Given the description of an element on the screen output the (x, y) to click on. 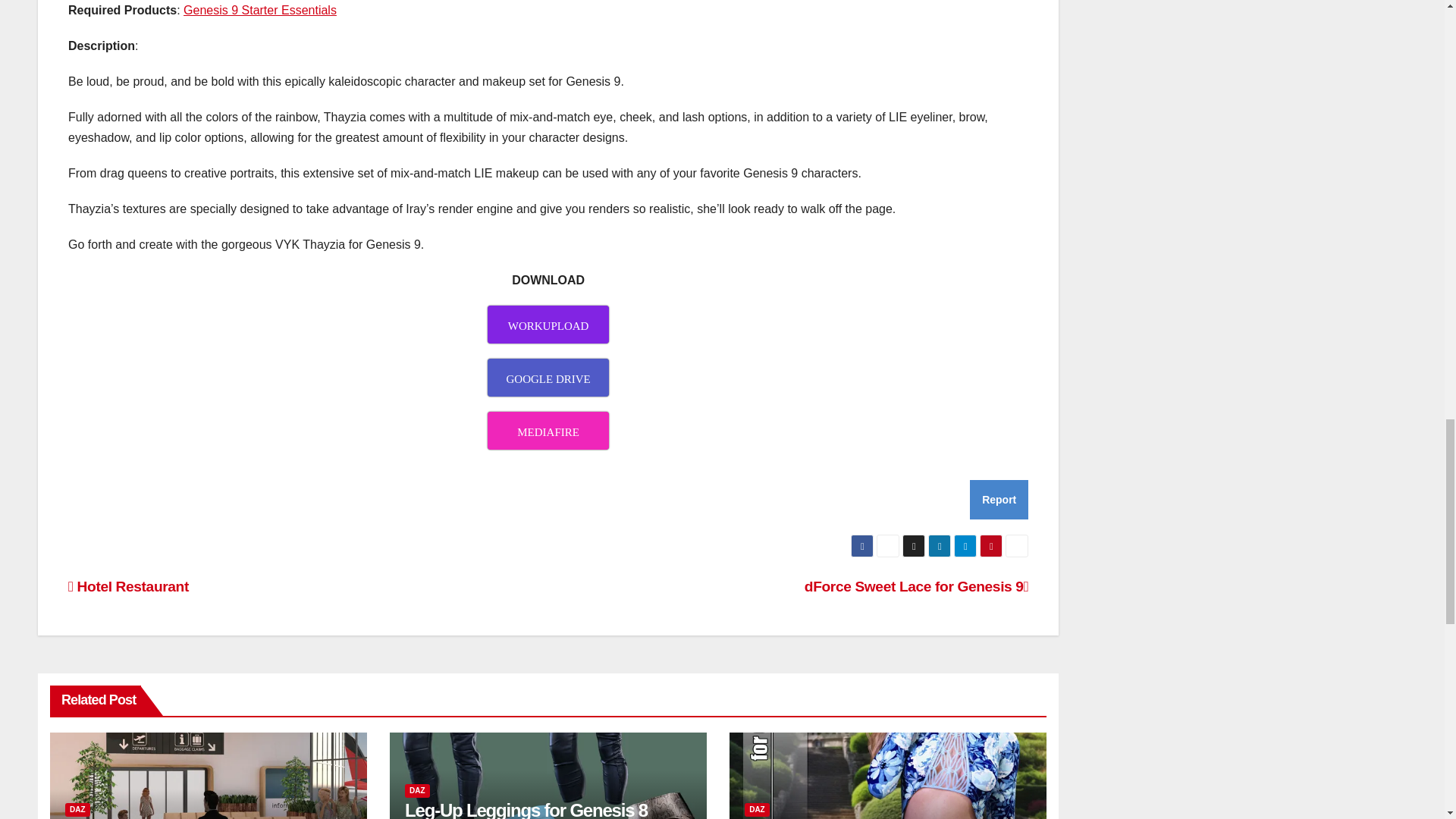
WORKUPLOAD (547, 324)
dForce Sweet Lace for Genesis 9 (916, 586)
Permalink to: Leg-Up Leggings for Genesis 8 Female (525, 809)
DAZ (77, 809)
Genesis 9 Starter Essentials (259, 10)
Hotel Restaurant (128, 586)
MEDIAFIRE (547, 430)
Report (998, 499)
GOOGLE DRIVE (547, 377)
